Given the description of an element on the screen output the (x, y) to click on. 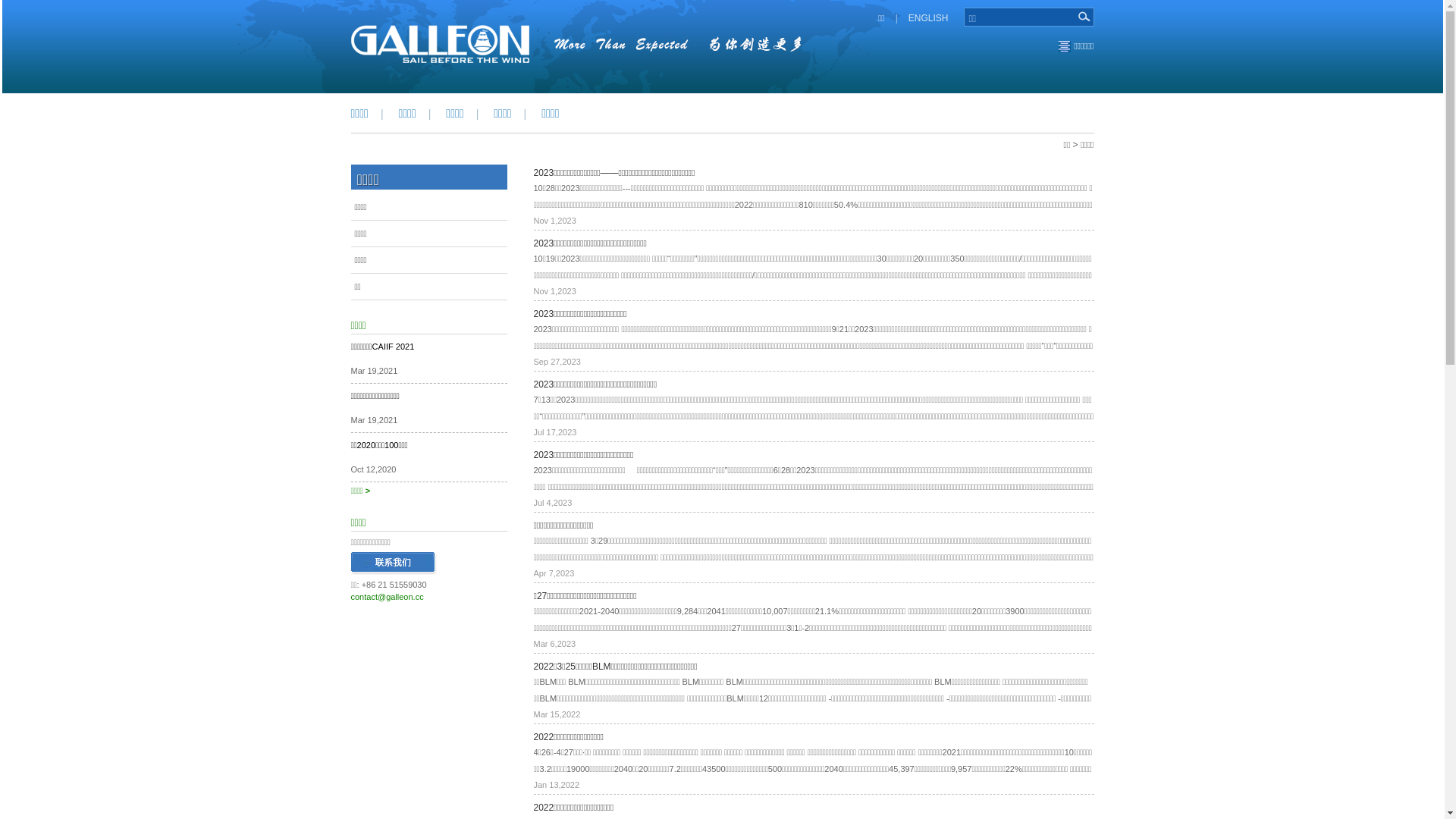
ENGLISH Element type: text (928, 17)
contact@galleon.cc Element type: text (386, 596)
